Given the description of an element on the screen output the (x, y) to click on. 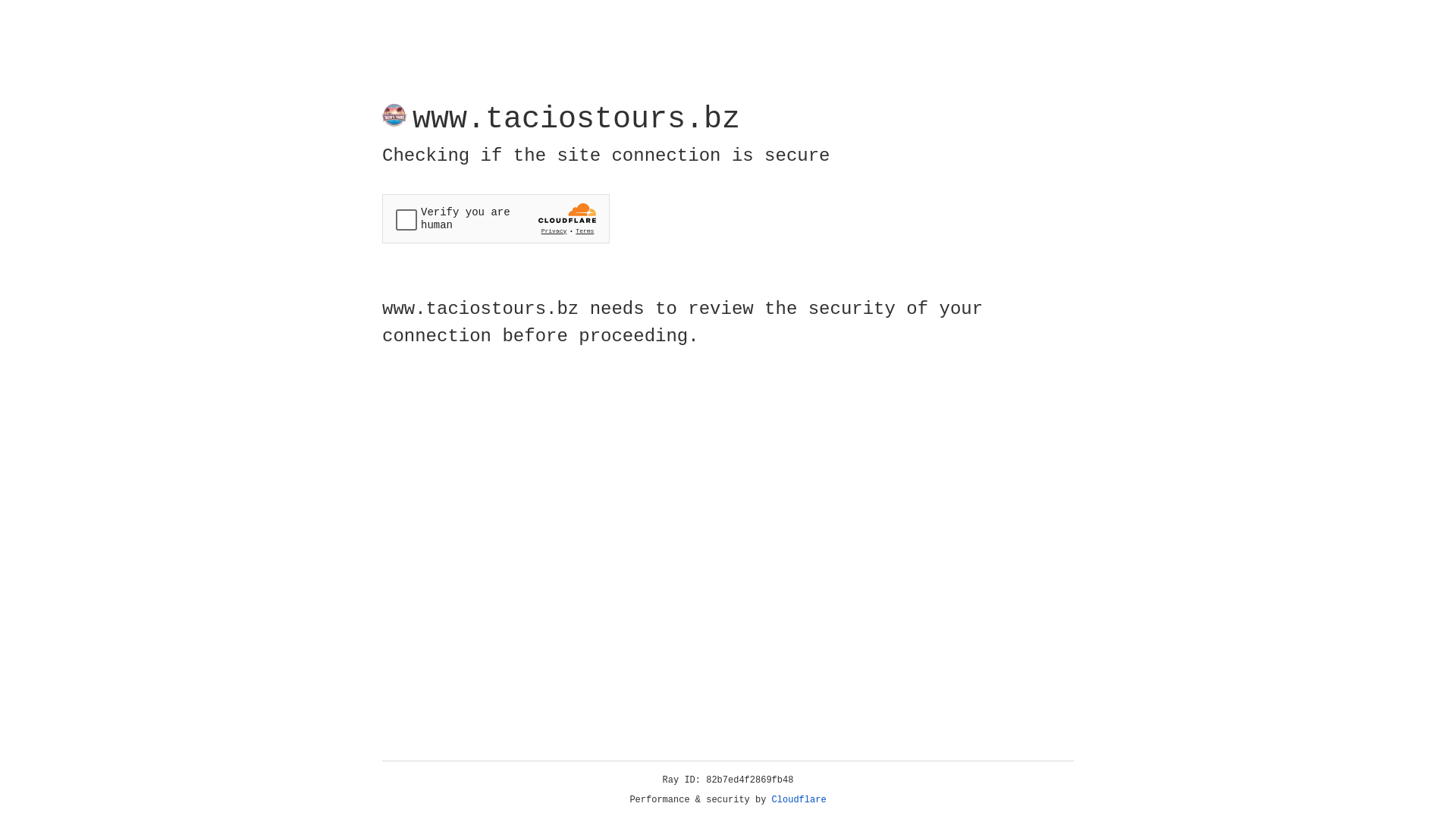
Cloudflare Element type: text (798, 799)
Widget containing a Cloudflare security challenge Element type: hover (495, 218)
